Given the description of an element on the screen output the (x, y) to click on. 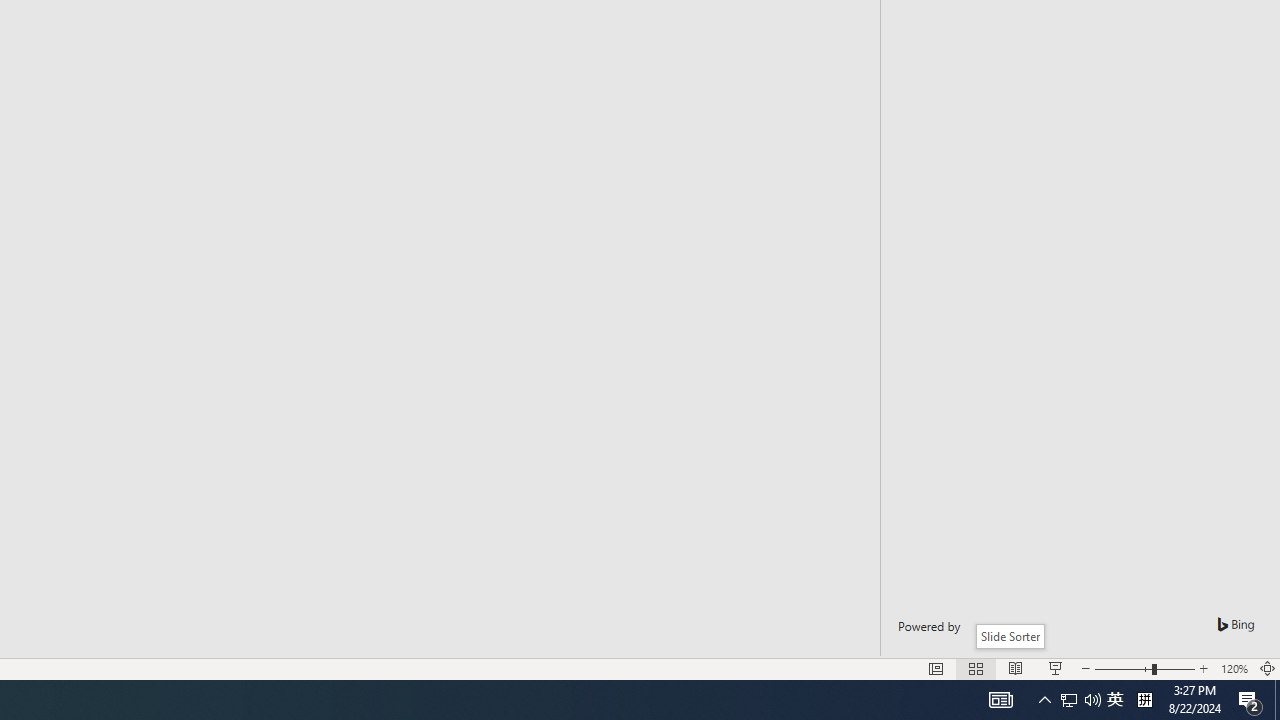
Reading View (1015, 668)
Slide Sorter (1009, 636)
Zoom In (1204, 668)
Normal (936, 668)
Slide Sorter (975, 668)
Zoom to Fit  (1267, 668)
Zoom 120% (1234, 668)
Zoom Out (1123, 668)
